Given the description of an element on the screen output the (x, y) to click on. 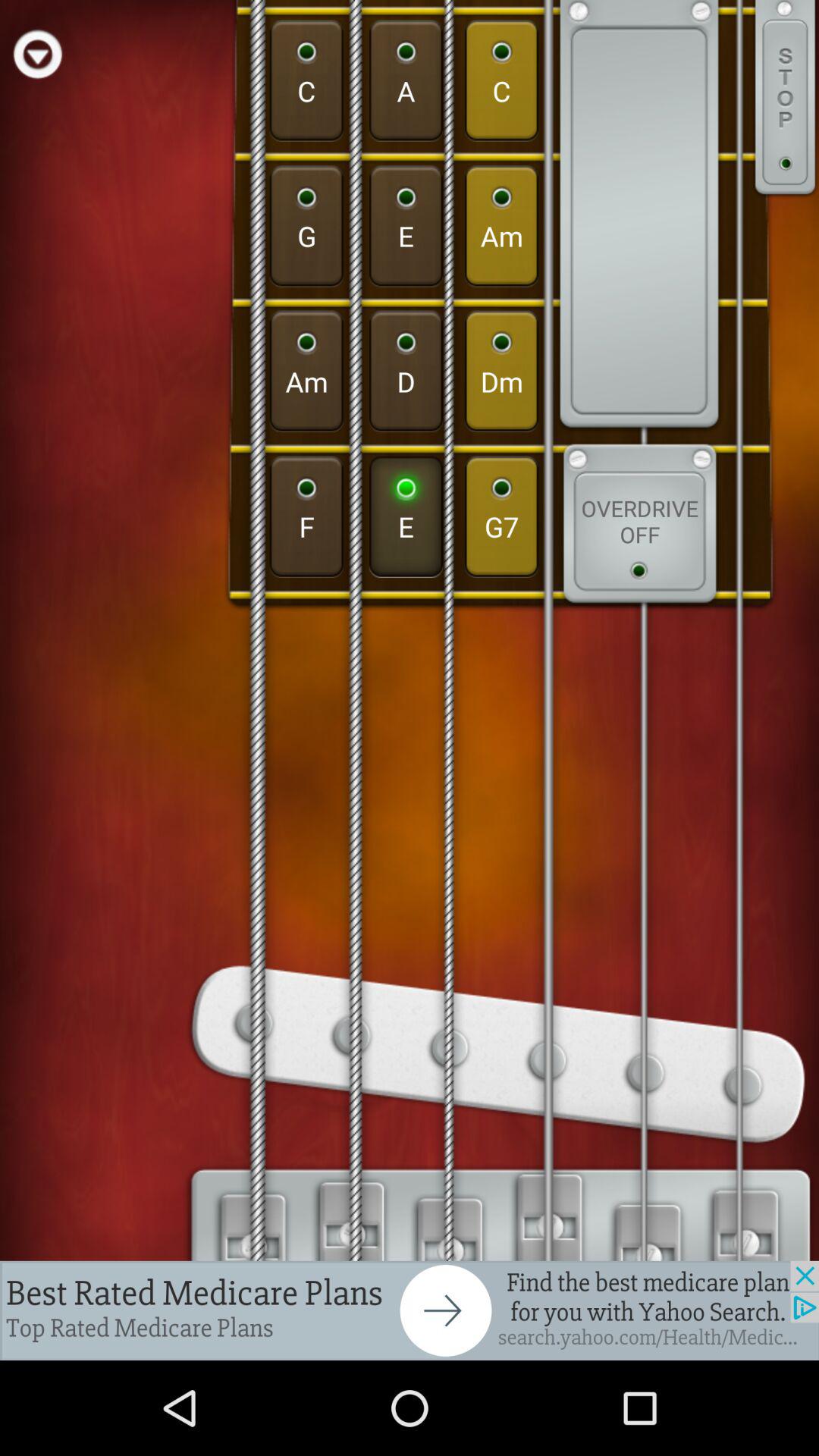
next page (409, 1310)
